Given the description of an element on the screen output the (x, y) to click on. 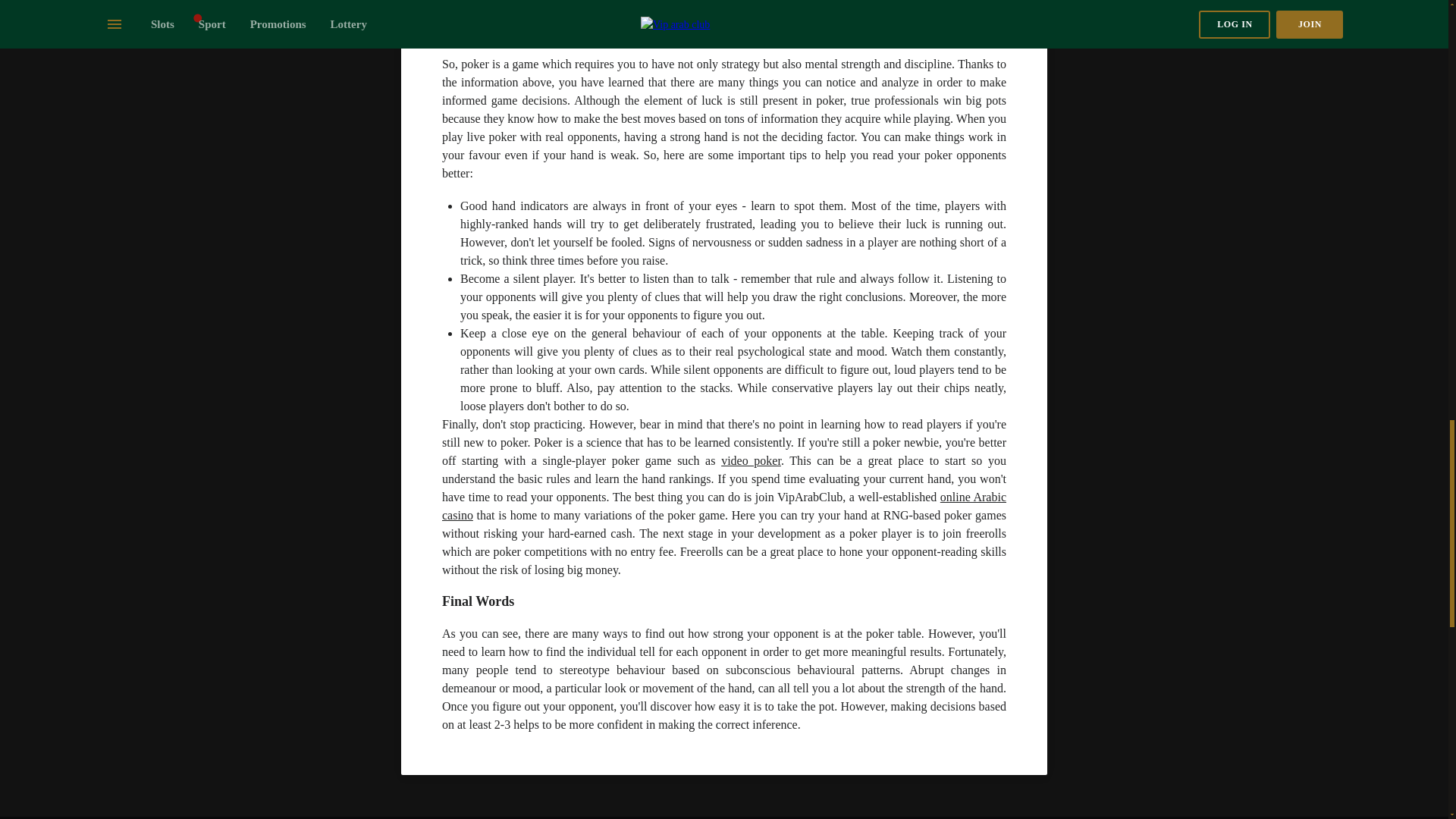
online Arabic casino (724, 505)
video poker (750, 460)
